Given the description of an element on the screen output the (x, y) to click on. 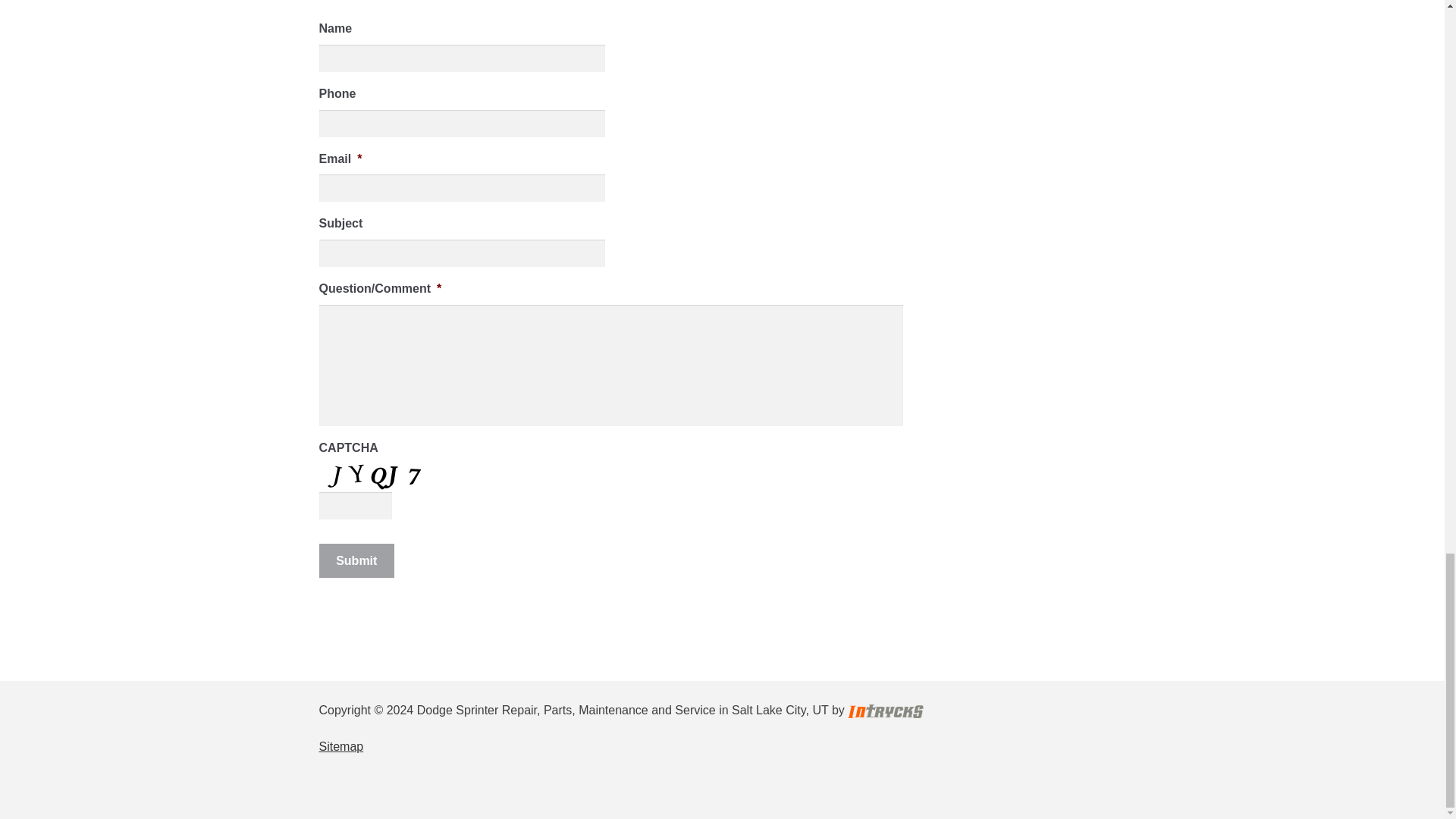
Sitemap (341, 746)
Submit (356, 560)
Submit (356, 560)
